Given the description of an element on the screen output the (x, y) to click on. 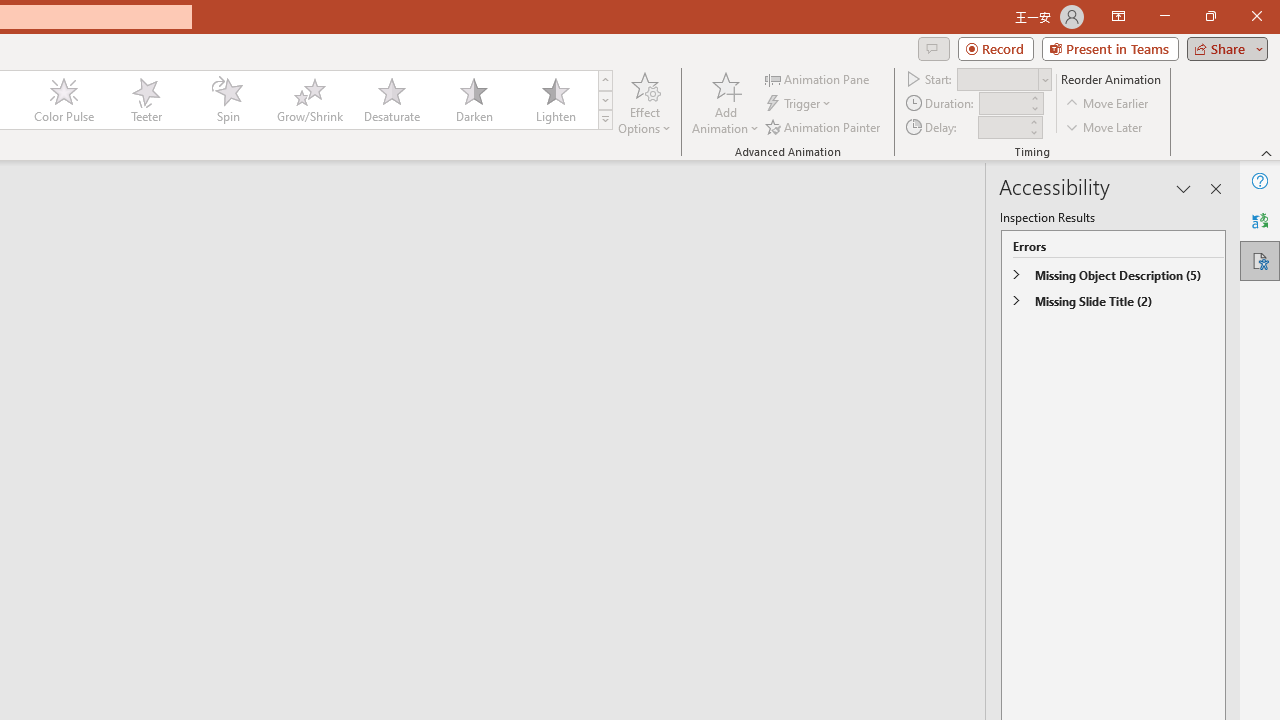
Effect Options (644, 102)
Animation Painter (824, 126)
Less (1033, 132)
More (1033, 121)
Darken (473, 100)
Trigger (799, 103)
Move Earlier (1107, 103)
